Given the description of an element on the screen output the (x, y) to click on. 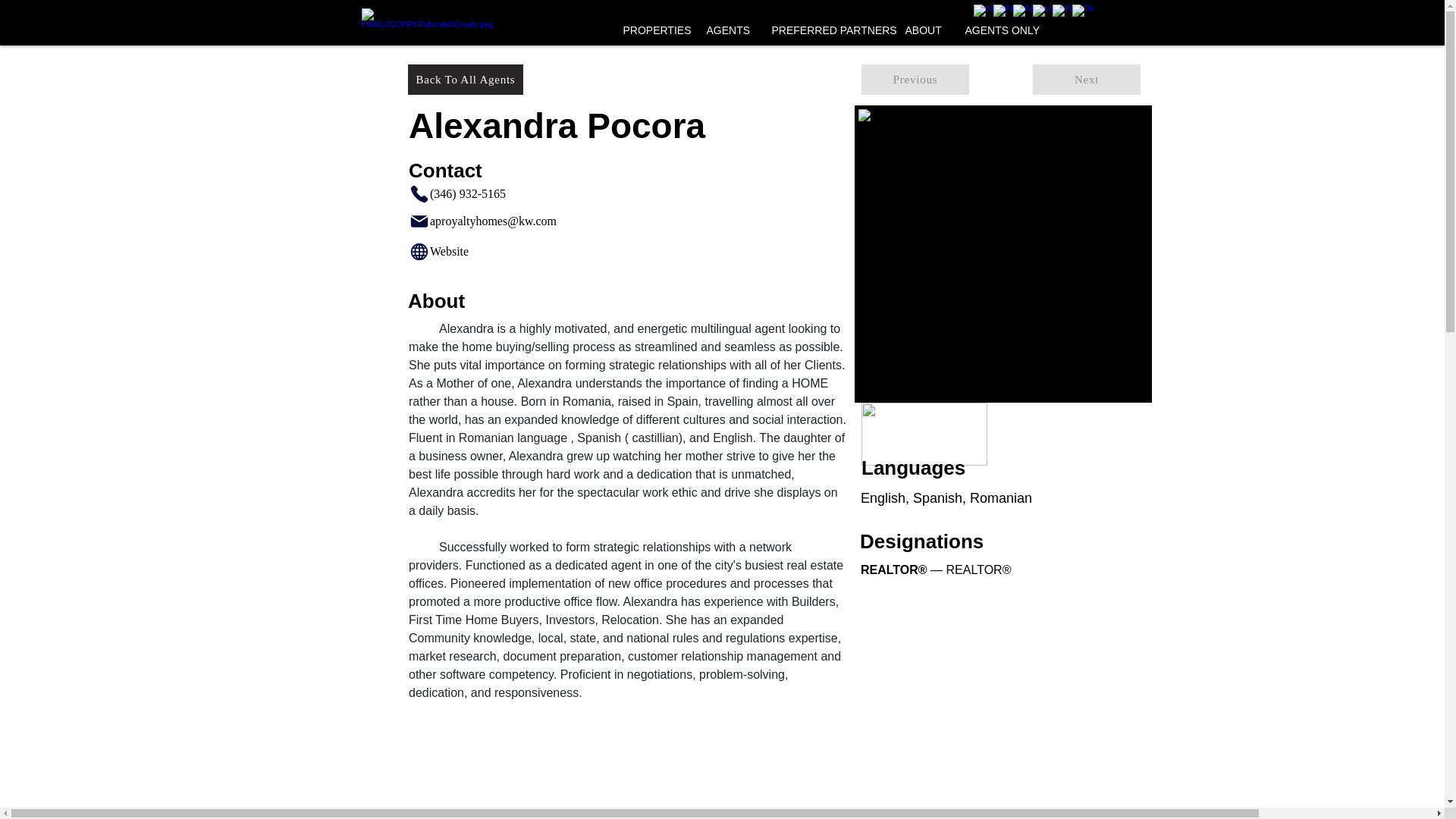
Next (1086, 79)
AGENTS ONLY (1001, 30)
682796.png (1002, 253)
Previous (915, 79)
Back To All Agents (464, 79)
Website (488, 251)
LOGO KWSmall360.png (924, 434)
